Given the description of an element on the screen output the (x, y) to click on. 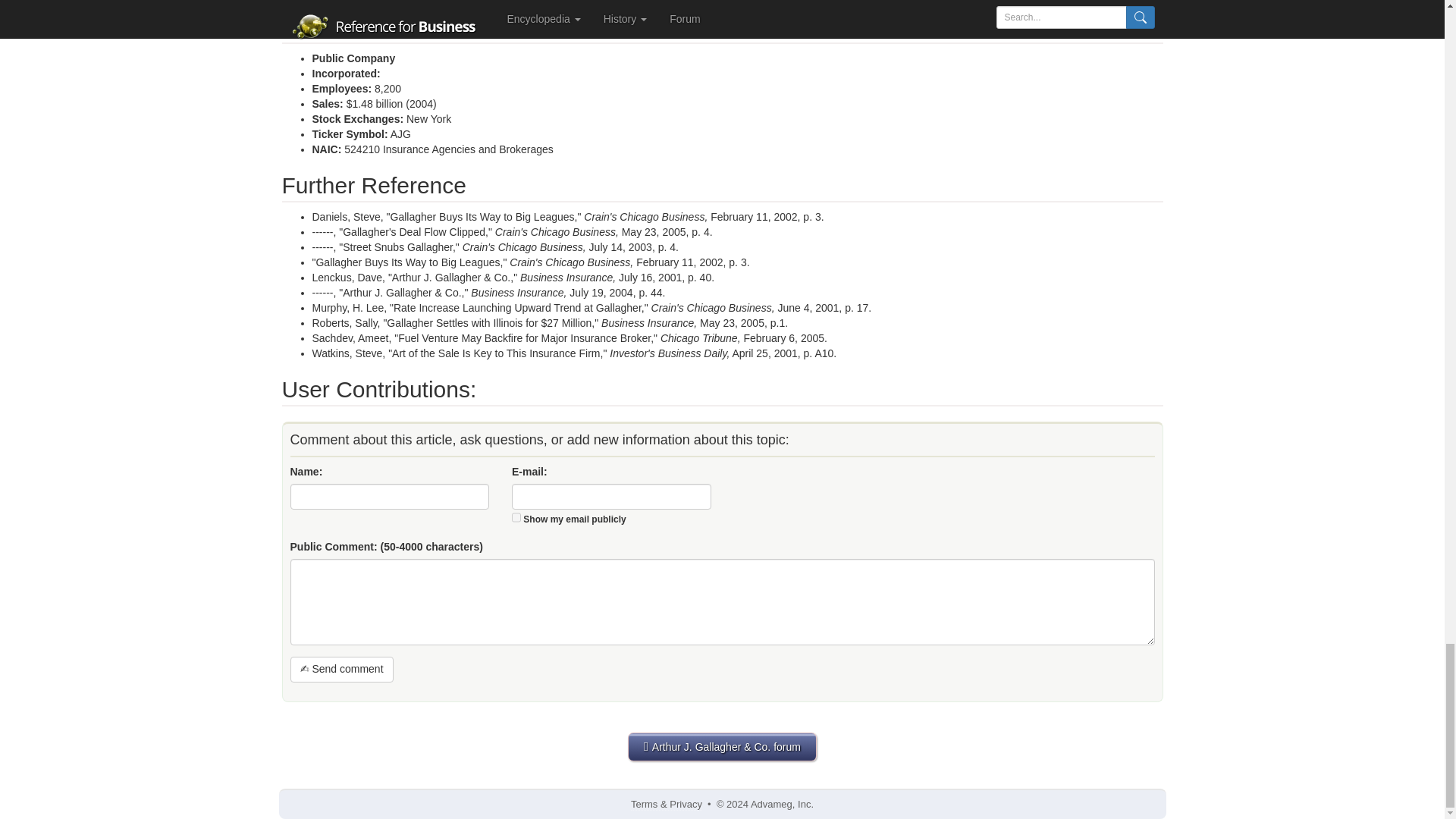
1 (516, 517)
